Given the description of an element on the screen output the (x, y) to click on. 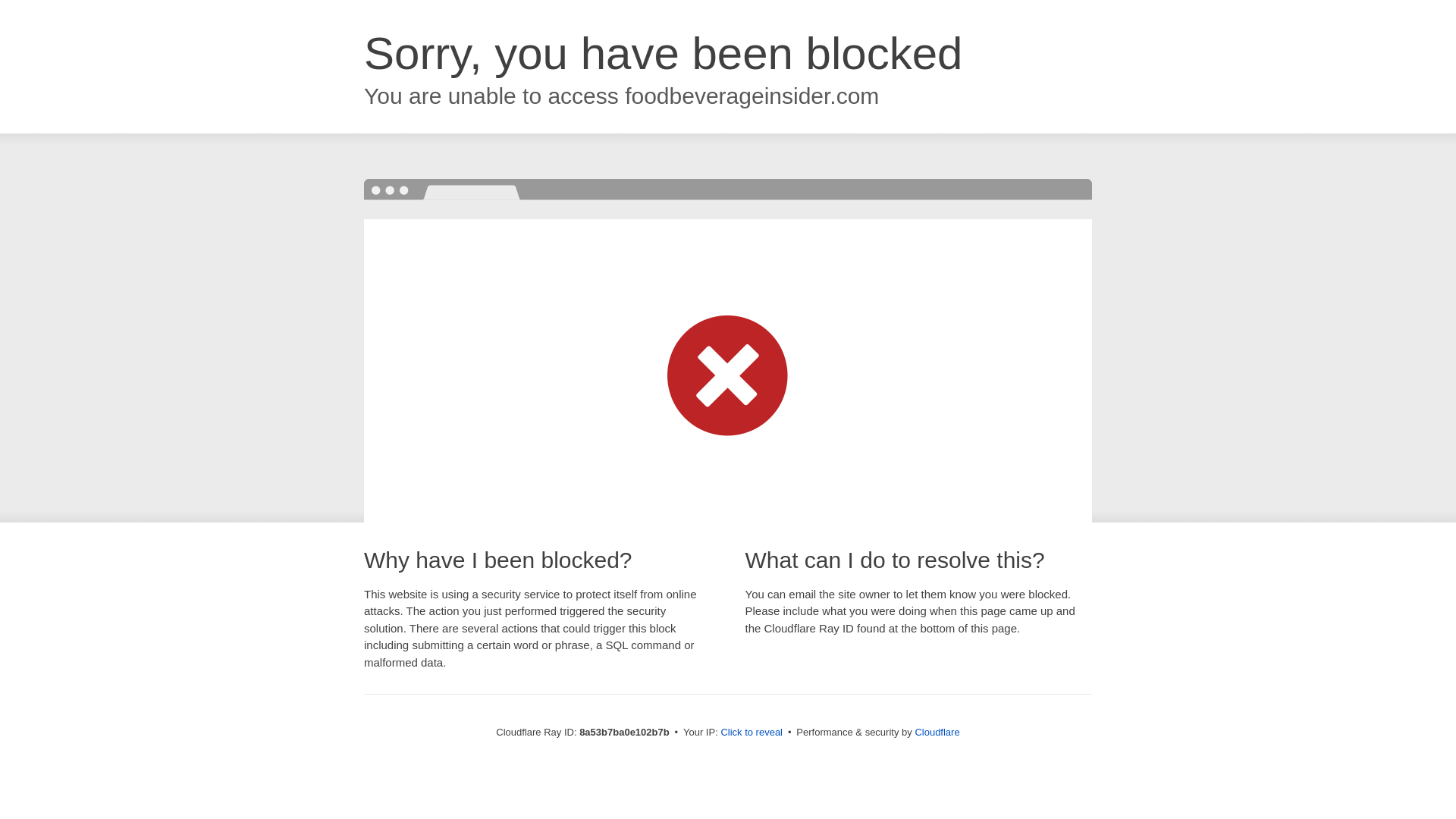
Click to reveal (751, 732)
Cloudflare (936, 731)
